Given the description of an element on the screen output the (x, y) to click on. 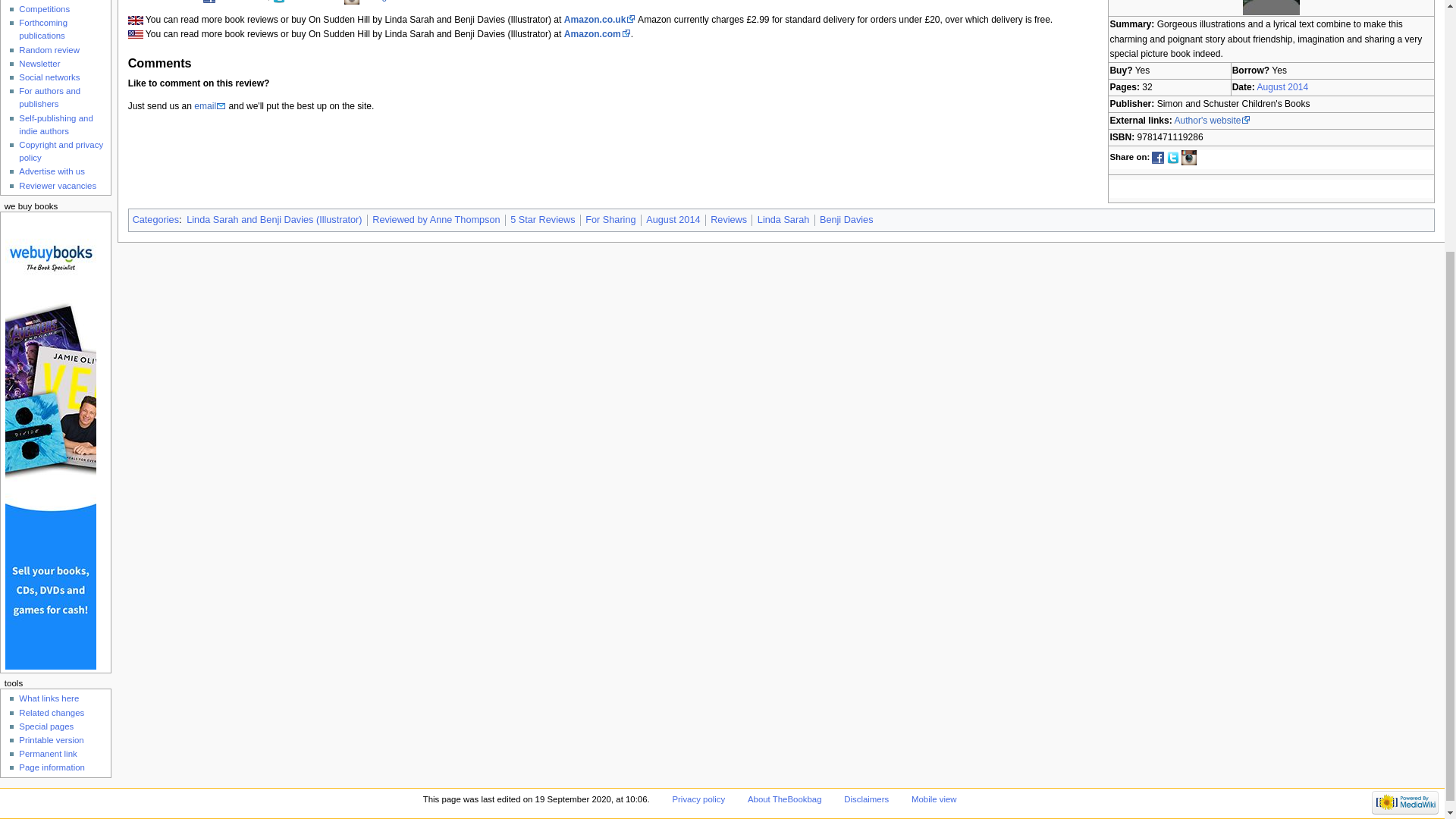
For Sharing (609, 219)
Category:5 Star Reviews (543, 219)
5 Star Reviews (543, 219)
Instagram (387, 0)
Amazon.com (597, 33)
Facebook (241, 0)
Category:Reviewed by Anne Thompson (435, 219)
Linda Sarah (783, 219)
Category:Linda Sarah (783, 219)
Category:Reviews (728, 219)
Reviews (728, 219)
Twitter (304, 0)
August 2014 (673, 219)
email (209, 105)
Category:August 2014 (673, 219)
